Given the description of an element on the screen output the (x, y) to click on. 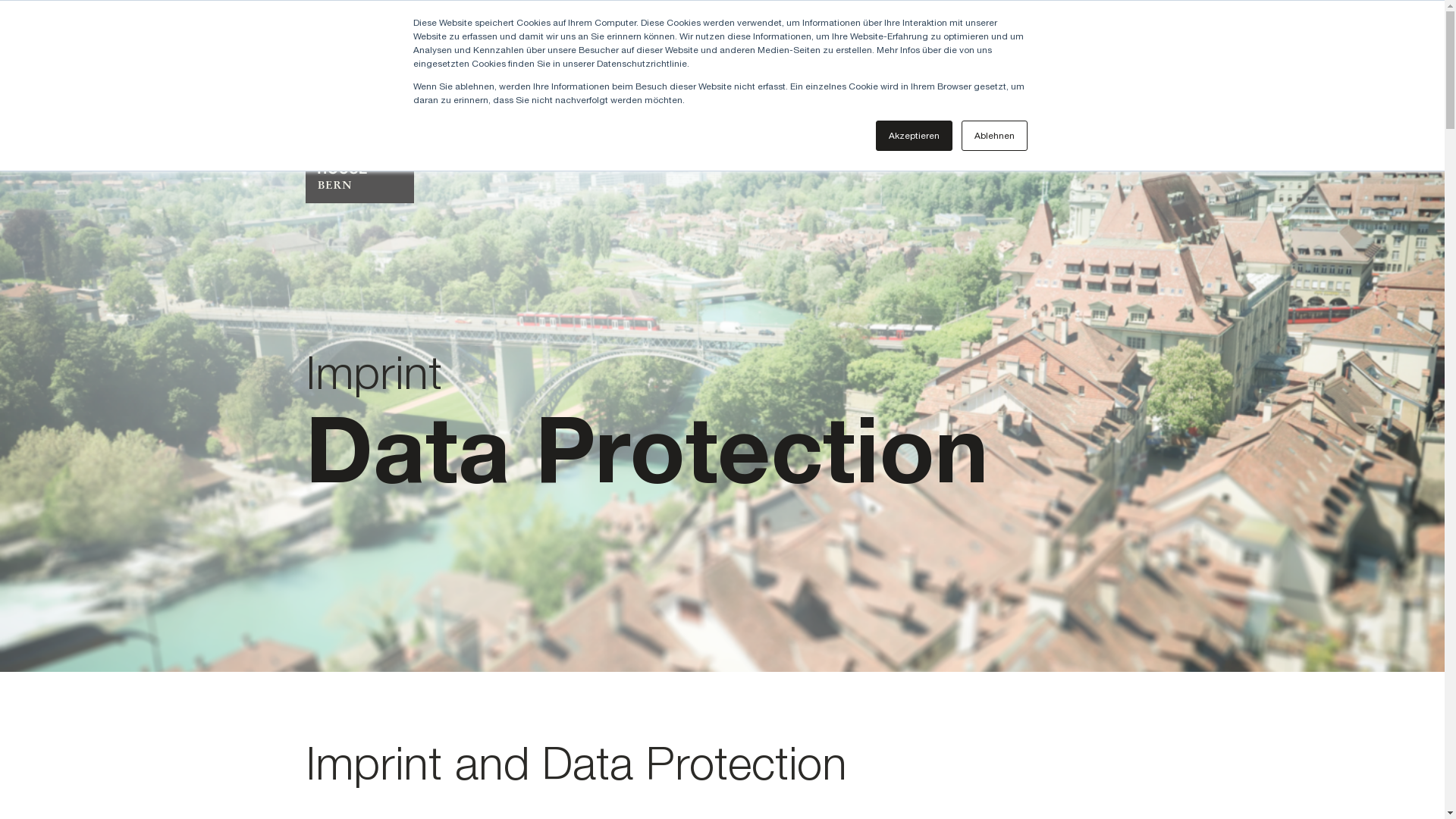
Services Element type: text (807, 70)
Trendy neighborhood Element type: text (1077, 70)
Logo_Web_Apartment_House_RGB Element type: hover (358, 109)
Ablehnen Element type: text (994, 135)
Booking explained briefly Element type: text (924, 70)
Contact Element type: text (1069, 37)
House Viktoria Element type: text (601, 70)
House Rodtmatt Element type: text (714, 70)
Akzeptieren Element type: text (913, 135)
EN Element type: text (1132, 37)
DE Element type: text (1109, 37)
